Given the description of an element on the screen output the (x, y) to click on. 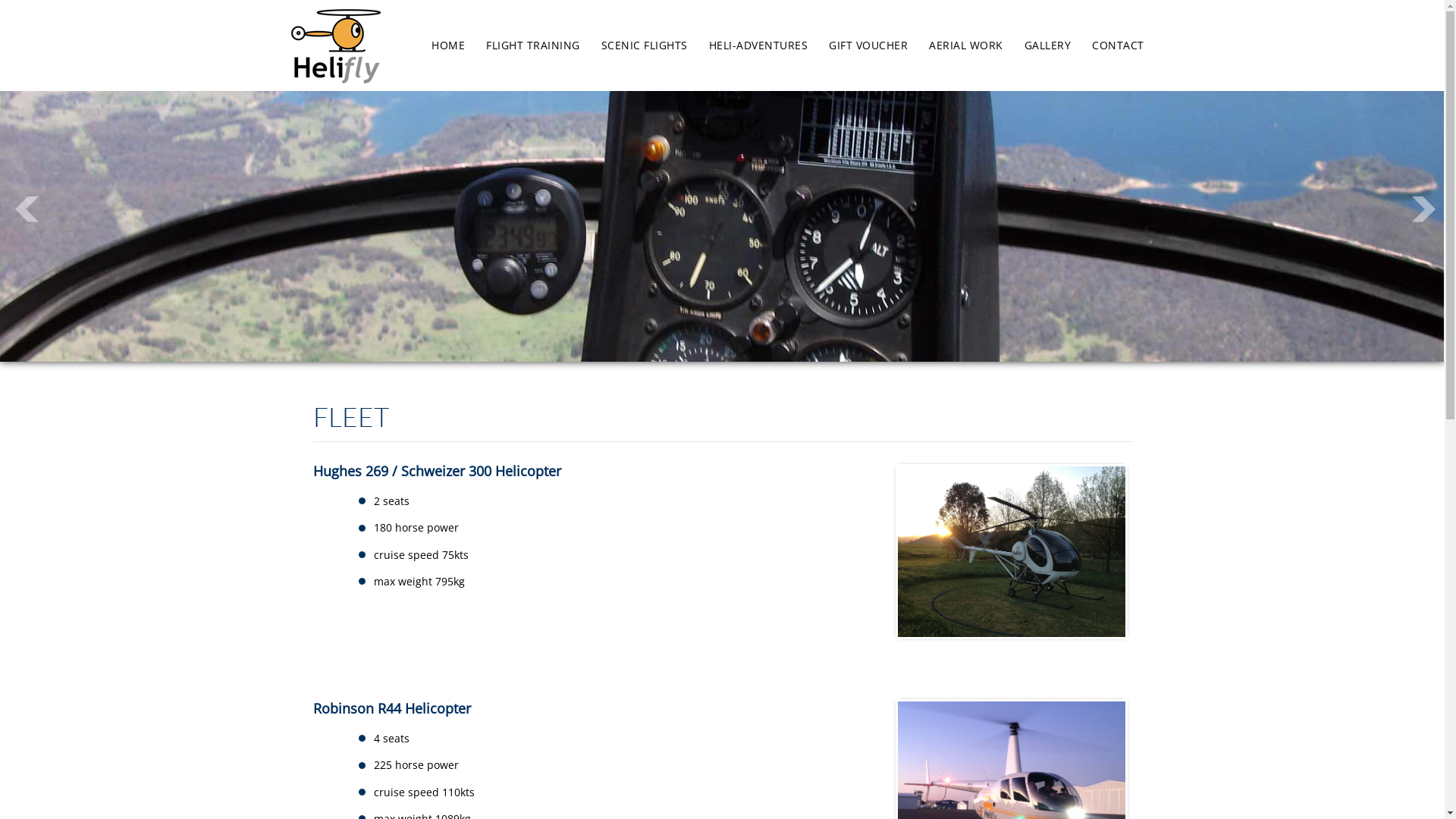
AERIAL WORK Element type: text (965, 44)
GALLERY Element type: text (1047, 44)
Next Element type: text (1424, 209)
SCENIC FLIGHTS Element type: text (643, 44)
FLIGHT TRAINING Element type: text (532, 44)
HOME Element type: text (447, 44)
Prev Element type: text (27, 209)
GIFT VOUCHER Element type: text (868, 44)
HELI-ADVENTURES Element type: text (757, 44)
CONTACT Element type: text (1117, 44)
